Given the description of an element on the screen output the (x, y) to click on. 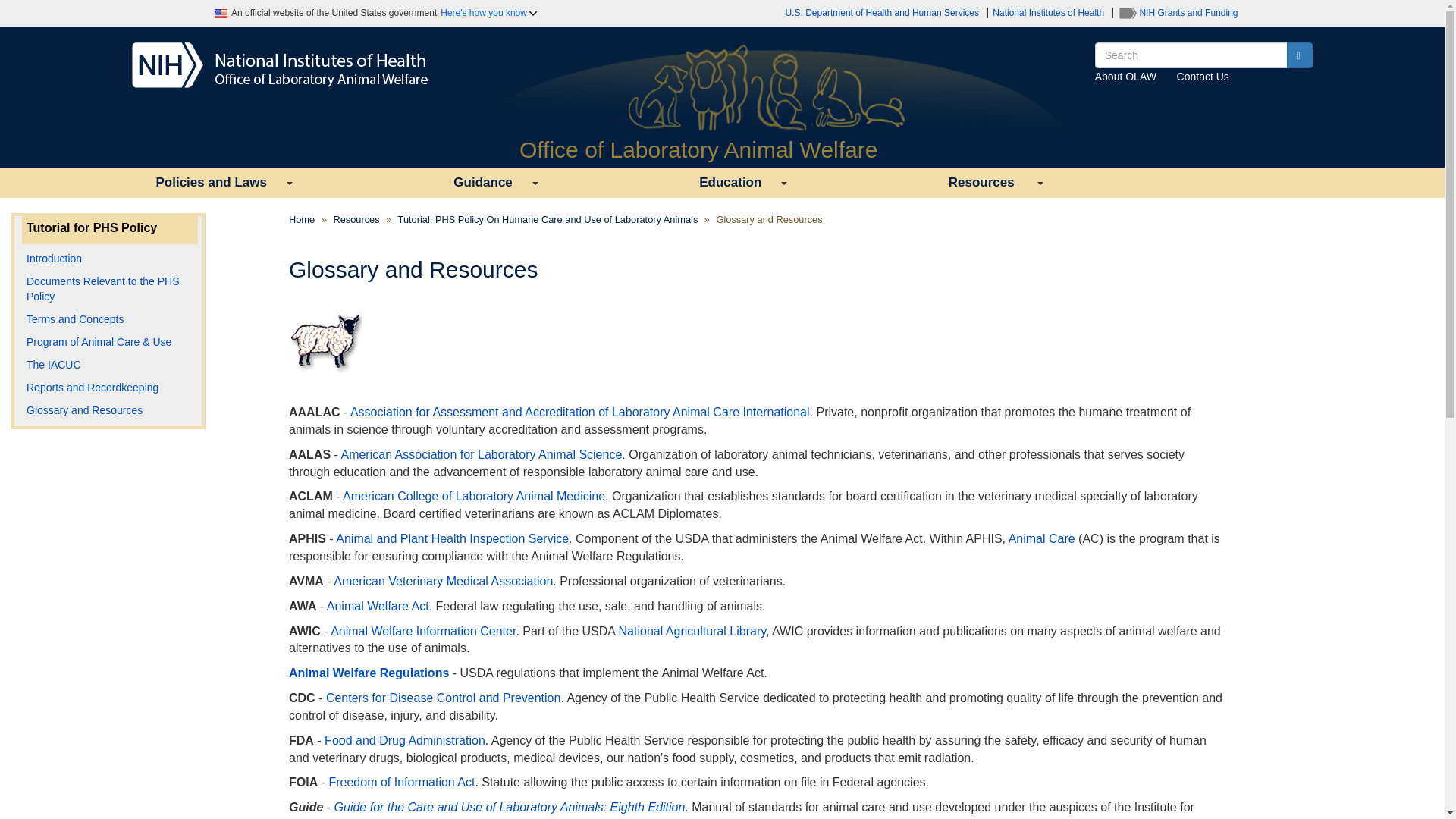
Contact Us (1202, 76)
Link to Non-U.S. Government Site (579, 411)
Link to Non-U.S. Government Site (1300, 54)
National Institutes of Health (480, 454)
U.S. Department of Health and Human Services (1049, 12)
Guidance (883, 12)
NIH Grants and Funding (482, 182)
Link to Non-U.S. Government Site (1177, 12)
skip to main content (509, 807)
